Given the description of an element on the screen output the (x, y) to click on. 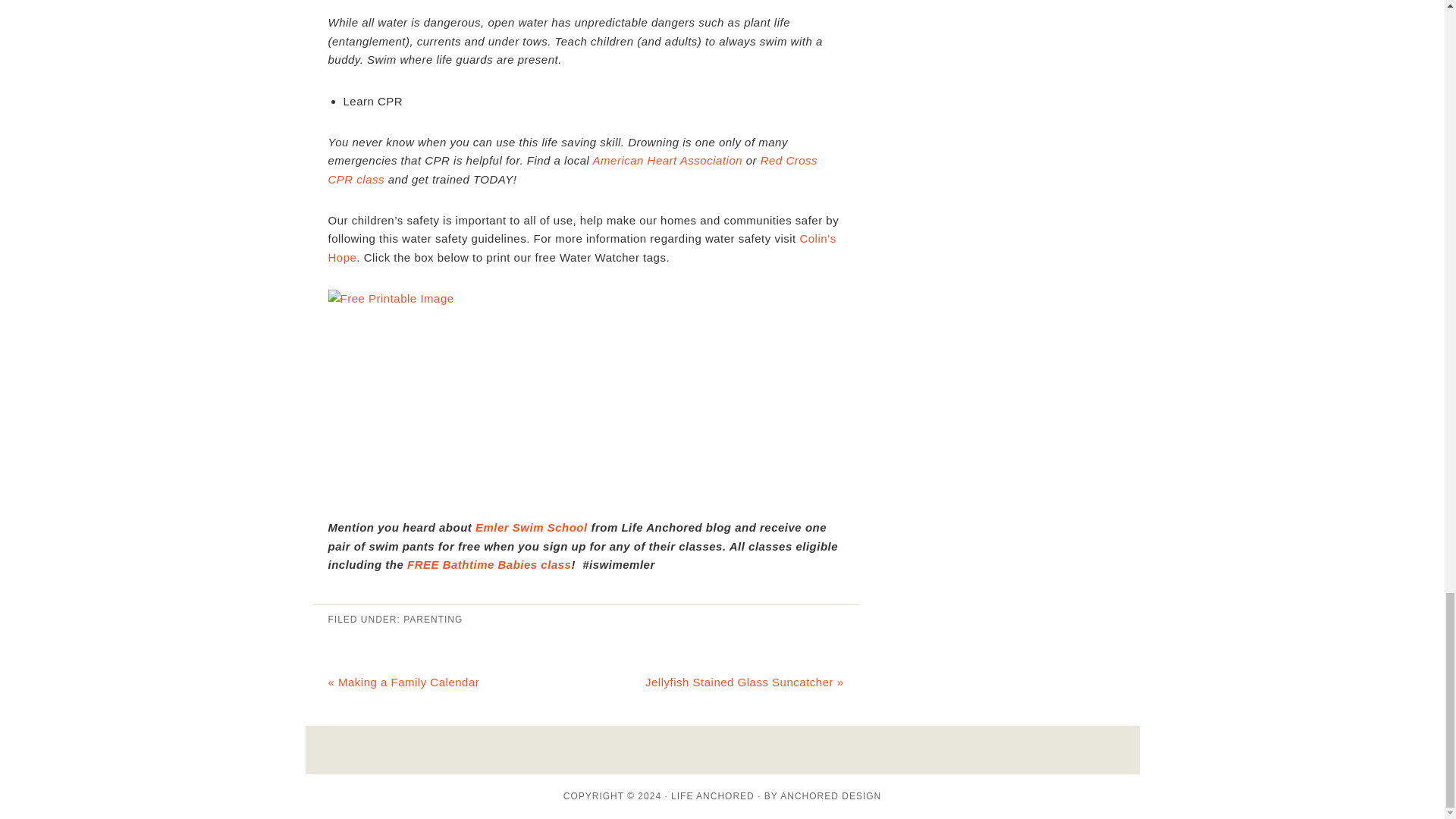
American Heart Association (667, 160)
Emler Swim School (532, 526)
Red Cross CPR class (571, 169)
PARENTING (433, 619)
FREE Bathtime Babies class (488, 563)
